Given the description of an element on the screen output the (x, y) to click on. 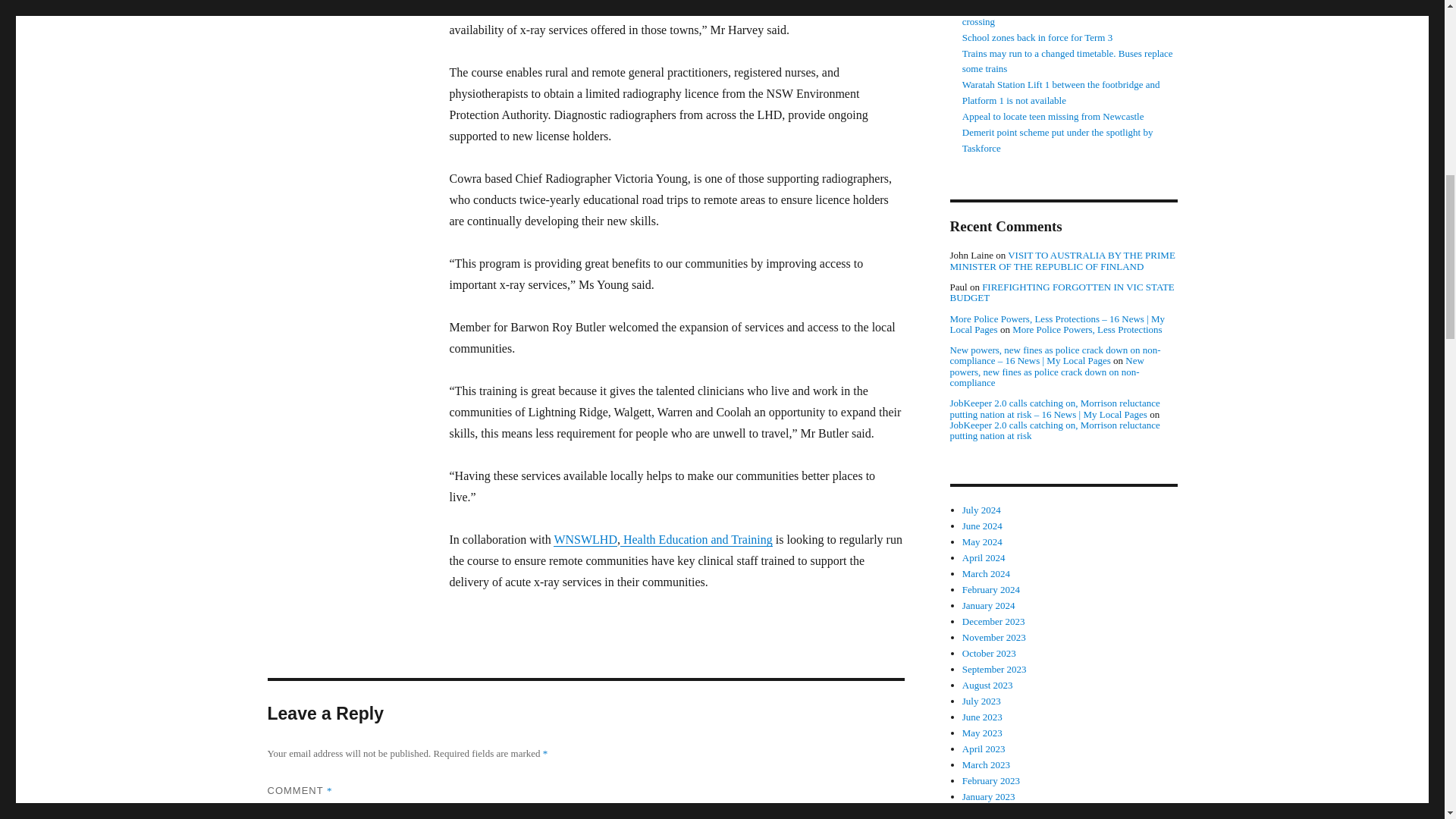
 Health Education and Training (696, 539)
WNSWLHD (585, 539)
